Given the description of an element on the screen output the (x, y) to click on. 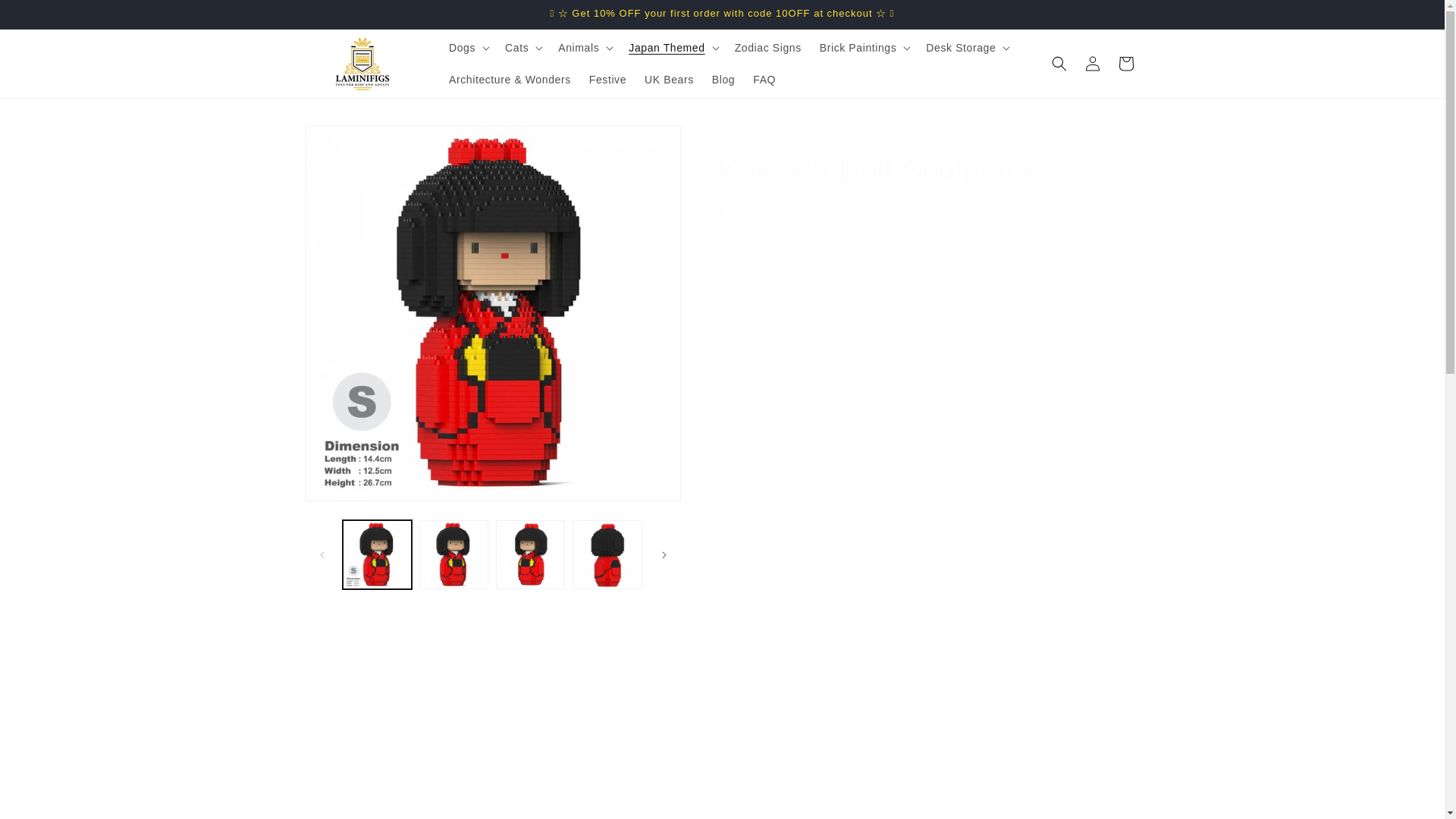
1 (773, 356)
Skip to content (45, 17)
